Given the description of an element on the screen output the (x, y) to click on. 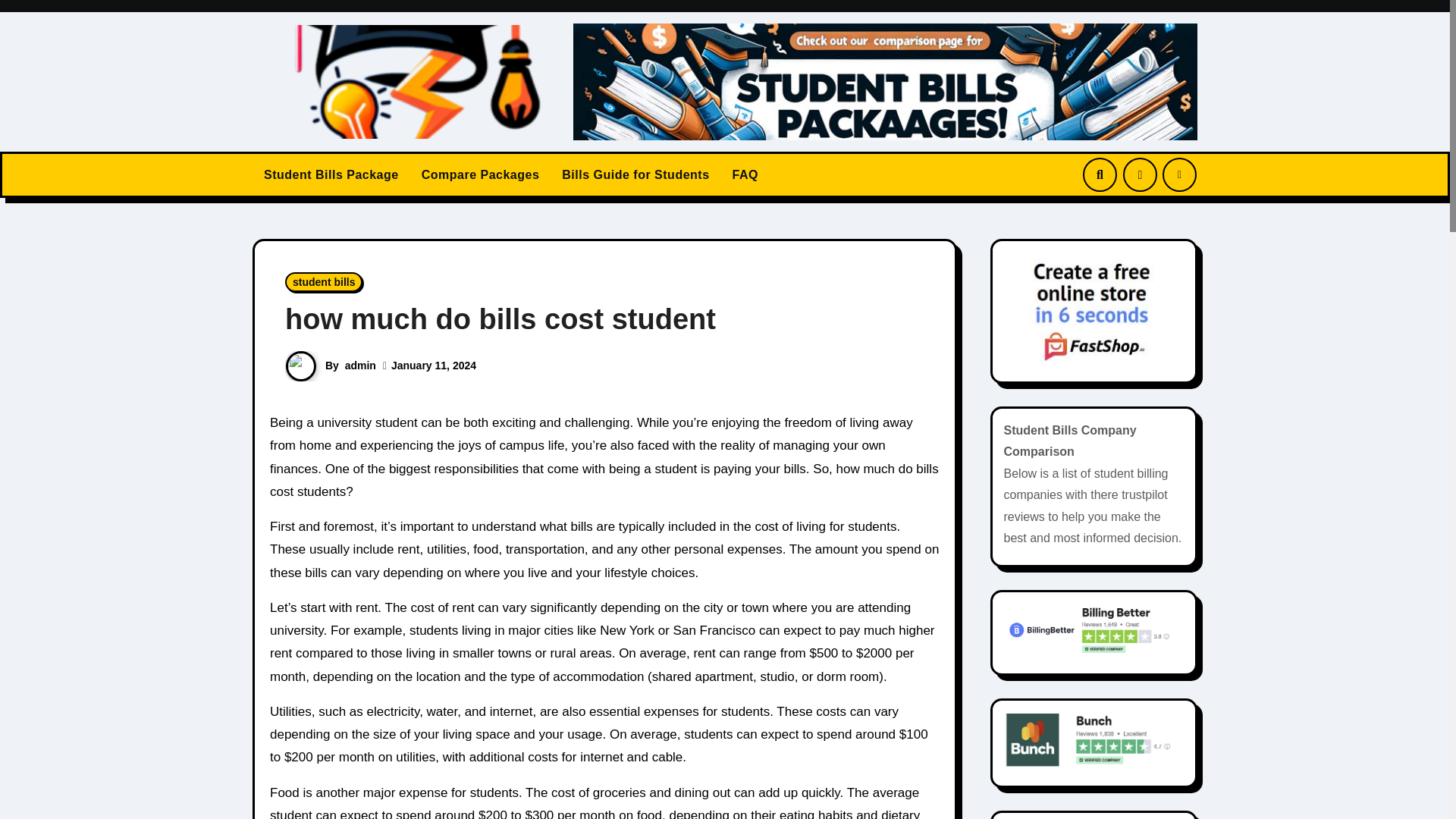
student bills (323, 281)
Student Bills Package (330, 174)
admin (360, 365)
Bills Guide for Students (635, 174)
Compare Packages (480, 174)
how much do bills cost student (500, 318)
January 11, 2024 (433, 365)
Bills Guide for Students (635, 174)
Permalink to: how much do bills cost student (500, 318)
Student Bills Package (330, 174)
Compare Packages (480, 174)
FAQ (745, 174)
FAQ (745, 174)
